Given the description of an element on the screen output the (x, y) to click on. 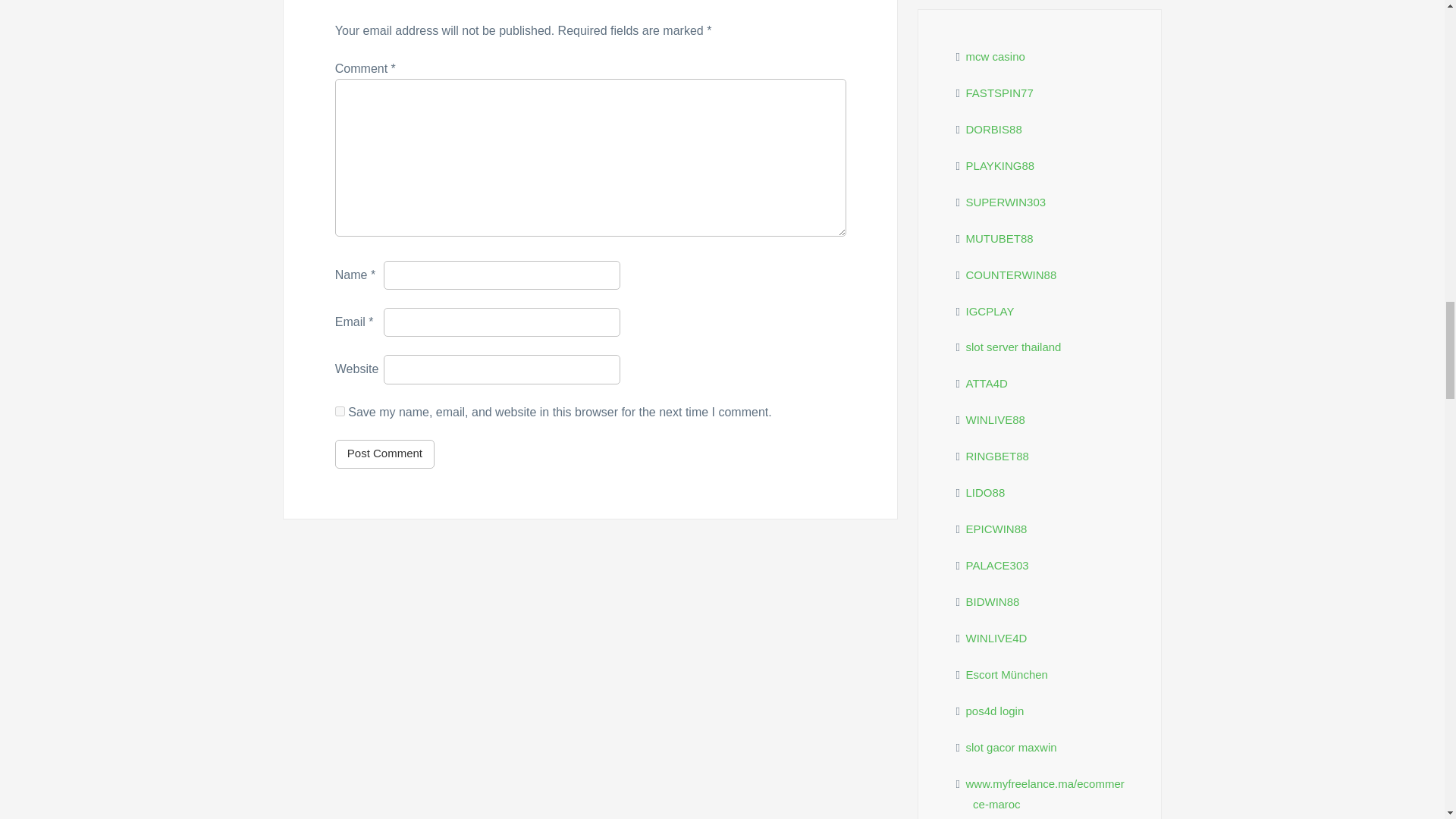
Post Comment (383, 453)
yes (339, 411)
Post Comment (383, 453)
